Given the description of an element on the screen output the (x, y) to click on. 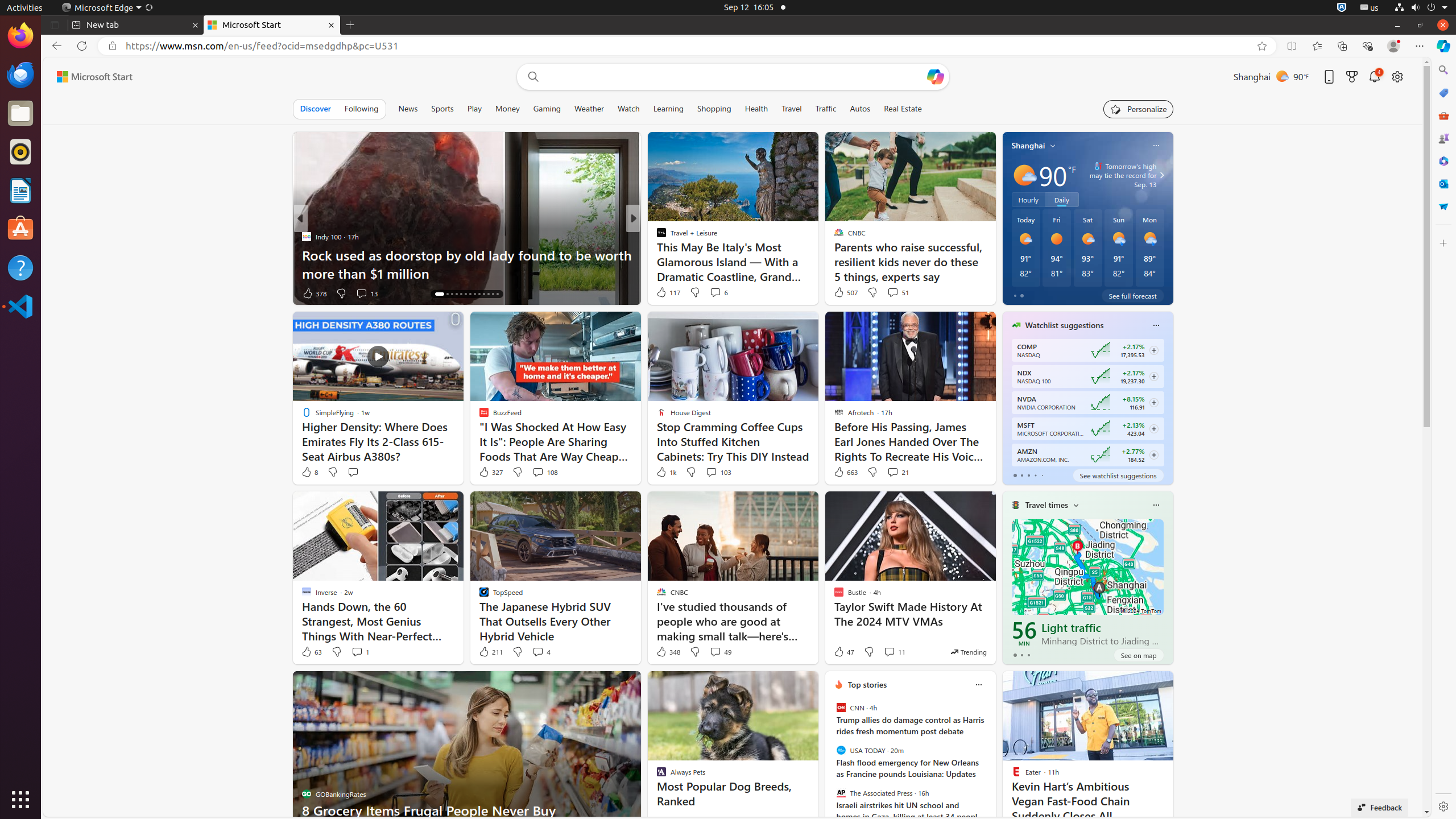
Light traffic Minhang District to Jiading District Element type: link (1102, 633)
View comments 28 Comment Element type: push-button (711, 293)
AMZN AMAZON.COM, INC. ‎+2.77%‎ 184.52 Element type: link (1087, 454)
Click to open the link to download the Microsoft Start mobile app Element type: push-button (1328, 76)
Sports Element type: link (442, 108)
